Given the description of an element on the screen output the (x, y) to click on. 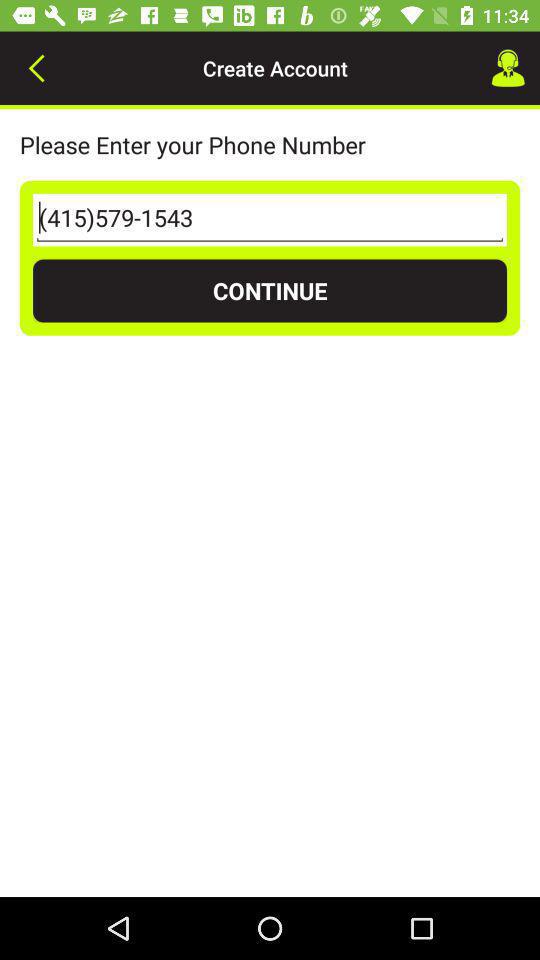
press the item next to create account item (36, 68)
